Given the description of an element on the screen output the (x, y) to click on. 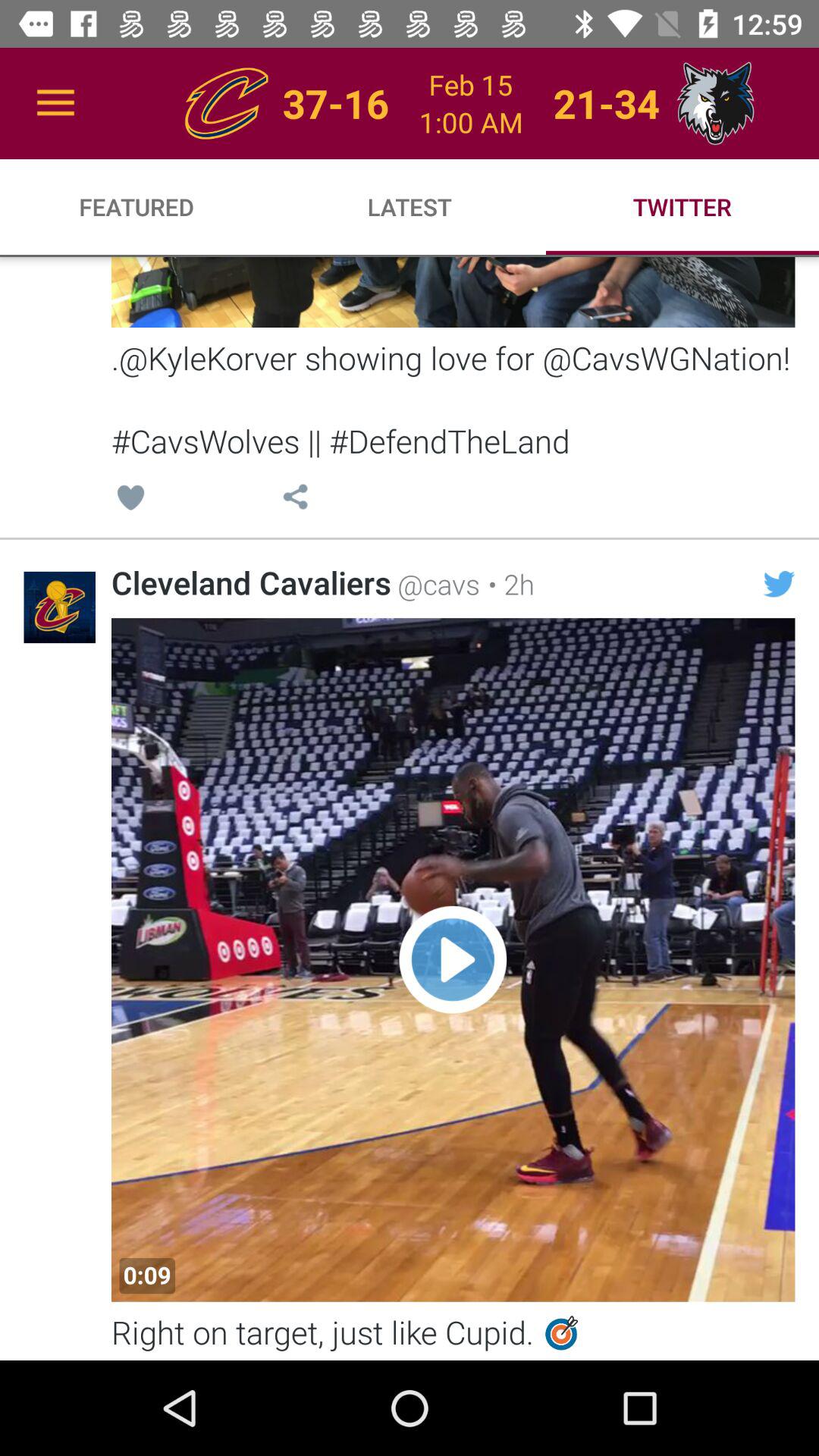
press the item to the right of the @cavs (507, 583)
